Given the description of an element on the screen output the (x, y) to click on. 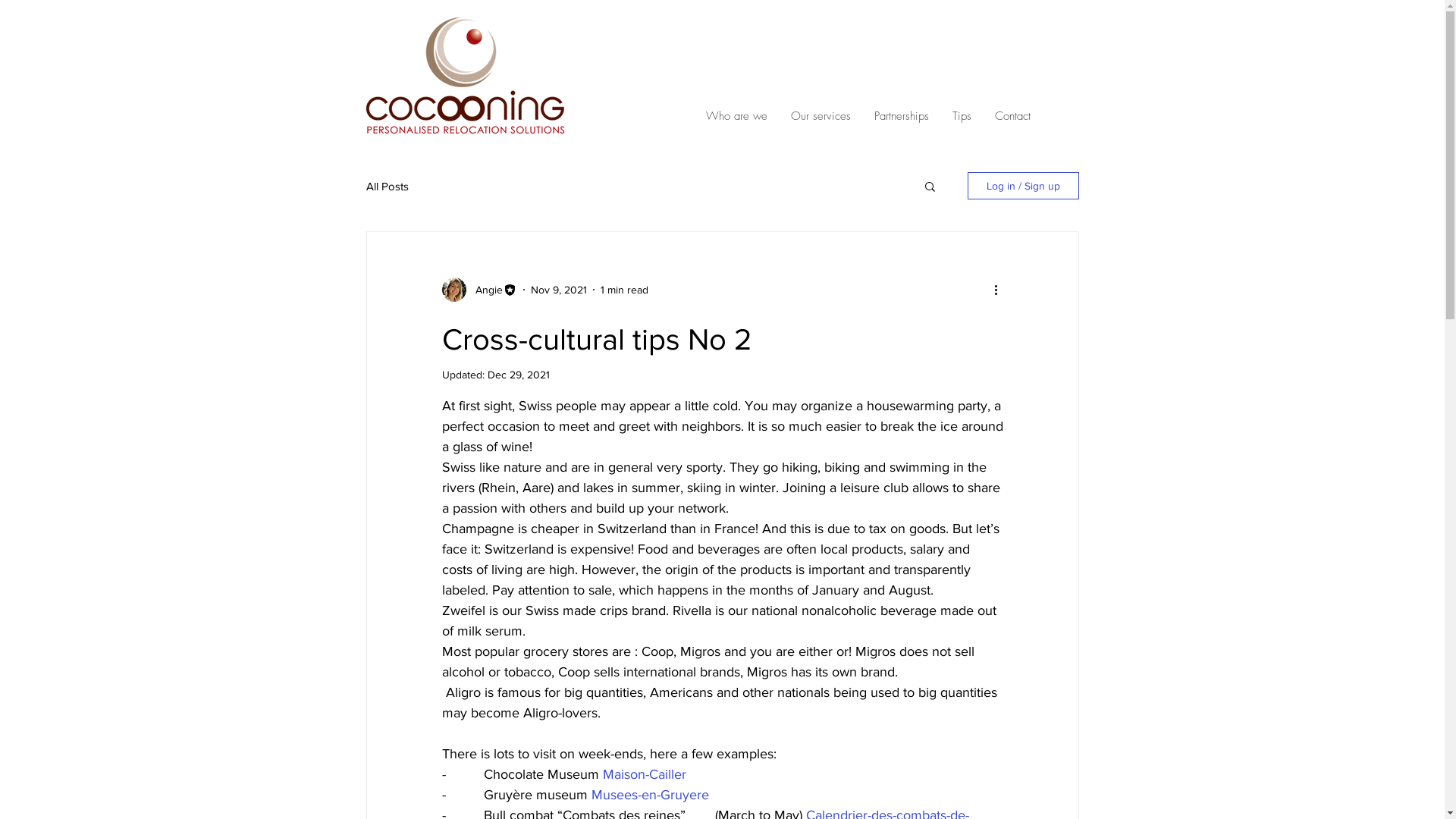
Who are we Element type: text (735, 116)
Our services Element type: text (820, 116)
Tips Element type: text (961, 116)
Contact Element type: text (1011, 116)
Maison-Cailler Element type: text (643, 773)
All Posts Element type: text (386, 184)
Musees-en-Gruyere Element type: text (650, 794)
Log in / Sign up Element type: text (1023, 185)
Partnerships Element type: text (901, 116)
